Given the description of an element on the screen output the (x, y) to click on. 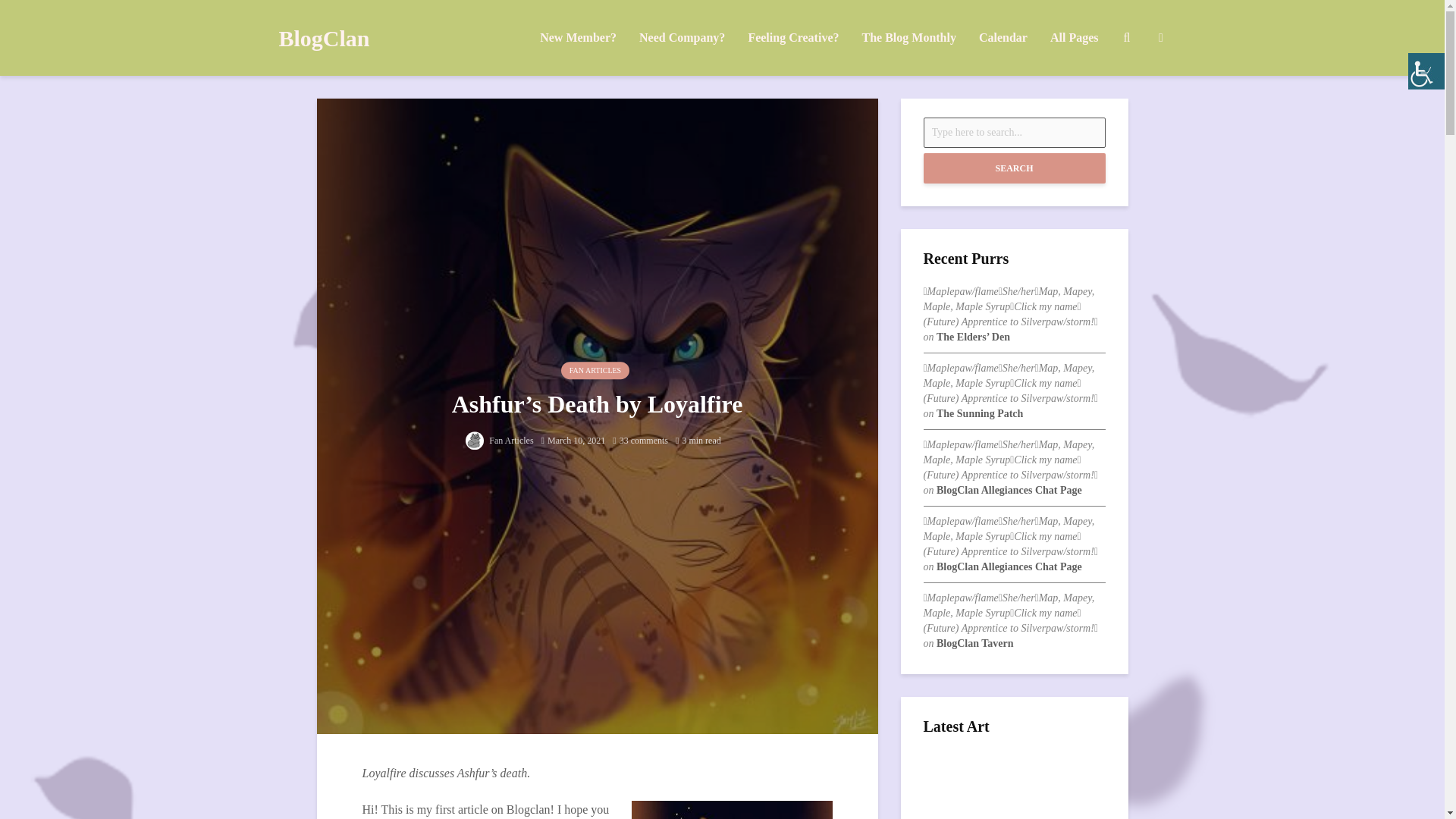
BlogClan (324, 37)
Need Company? (681, 37)
Feeling Creative? (793, 37)
Koipaw by Swiftpaw (1013, 807)
New Member? (577, 37)
Swiftpaw's Purr by Swiftpaw (1013, 791)
The Blog Monthly (908, 37)
My OC Sandytuft by Sandytuft (1013, 777)
